Given the description of an element on the screen output the (x, y) to click on. 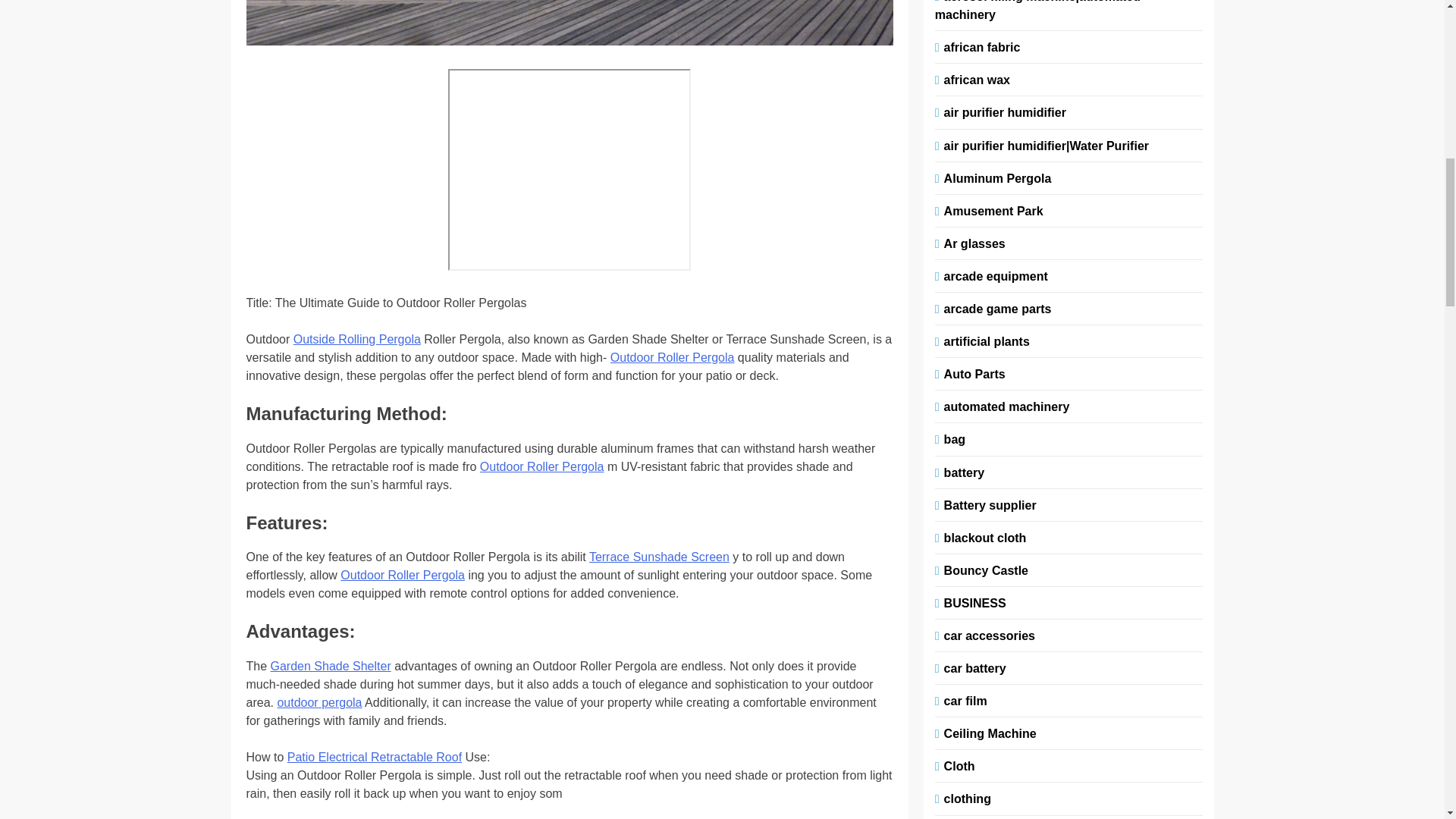
Outdoor Roller Pergola (542, 466)
Patio Electrical Retractable Roof (373, 757)
outdoor pergola (318, 702)
Outdoor Roller Pergola (402, 574)
Outside Rolling Pergola (357, 338)
Outdoor Roller Pergola (672, 357)
Garden Shade Shelter (330, 666)
Terrace Sunshade Screen (659, 556)
